Given the description of an element on the screen output the (x, y) to click on. 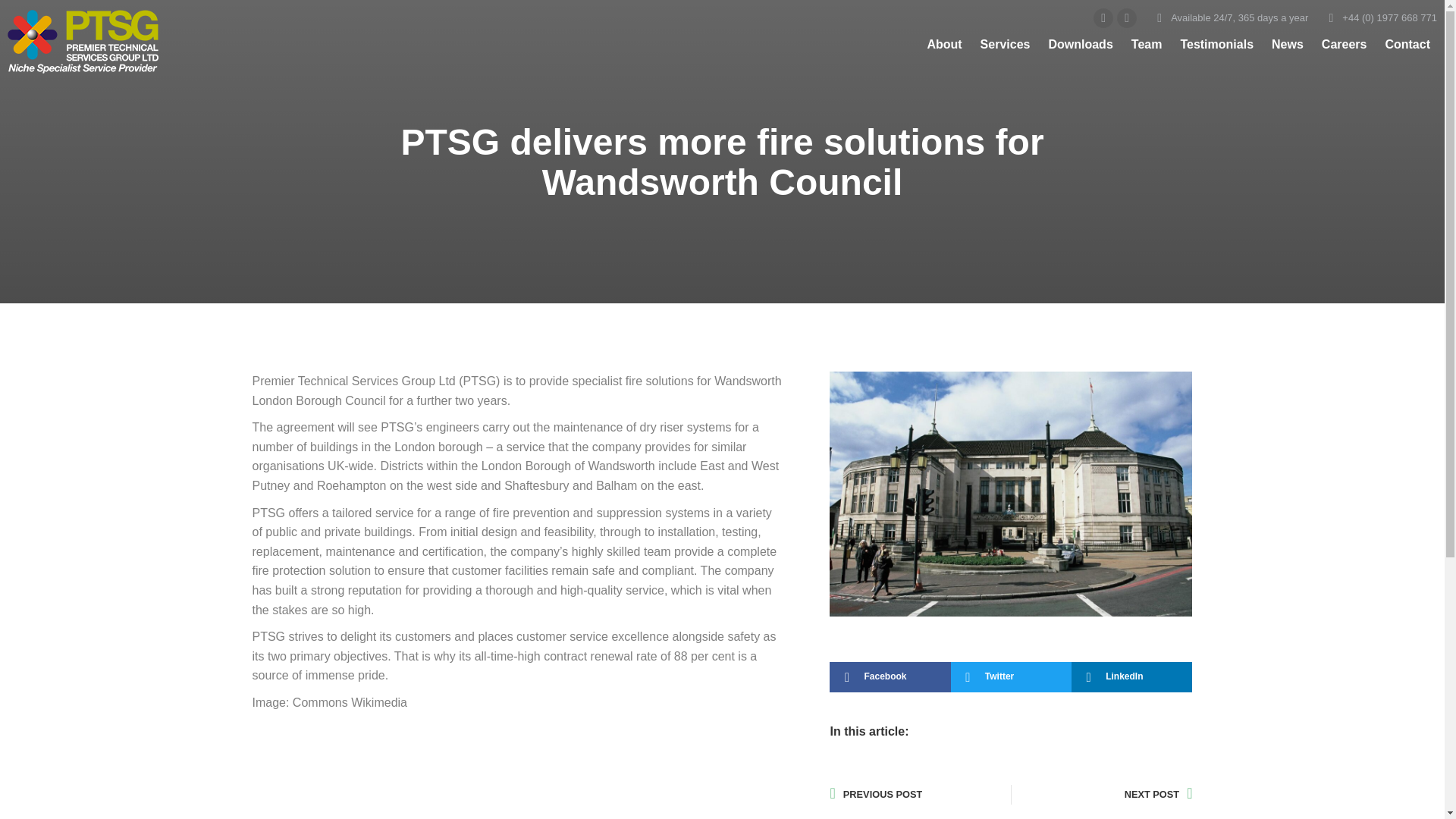
Twitter page opens in new window (1103, 17)
Contact (1406, 44)
Go! (23, 16)
Careers (1344, 44)
Testimonials (1216, 44)
Services (1004, 44)
About (943, 44)
Linkedin page opens in new window (1126, 17)
Downloads (1080, 44)
Team (1147, 44)
News (1287, 44)
